Given the description of an element on the screen output the (x, y) to click on. 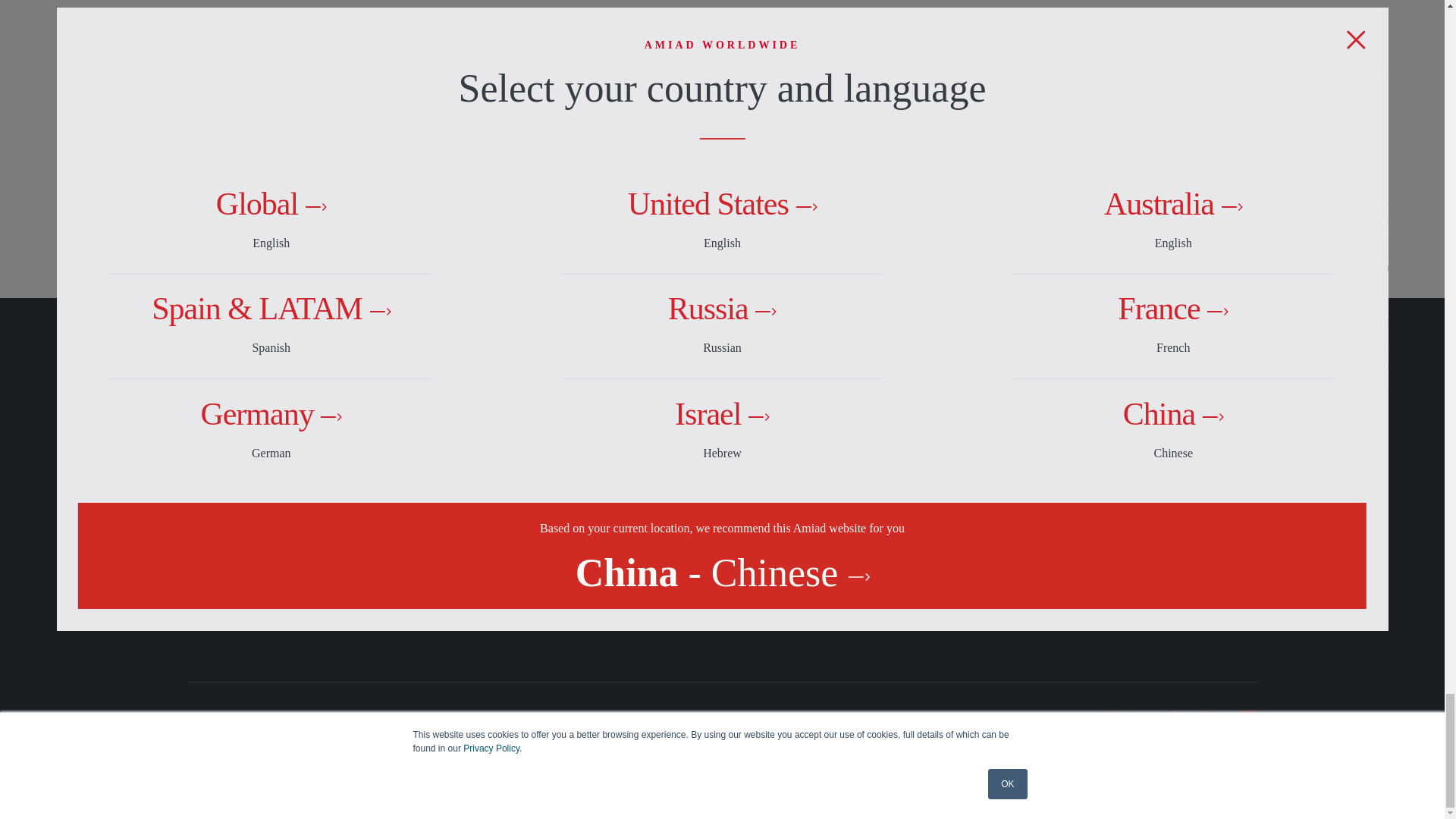
Instagram (1248, 718)
Linkedin (1212, 718)
X (1144, 718)
Subscribe (1158, 428)
